Given the description of an element on the screen output the (x, y) to click on. 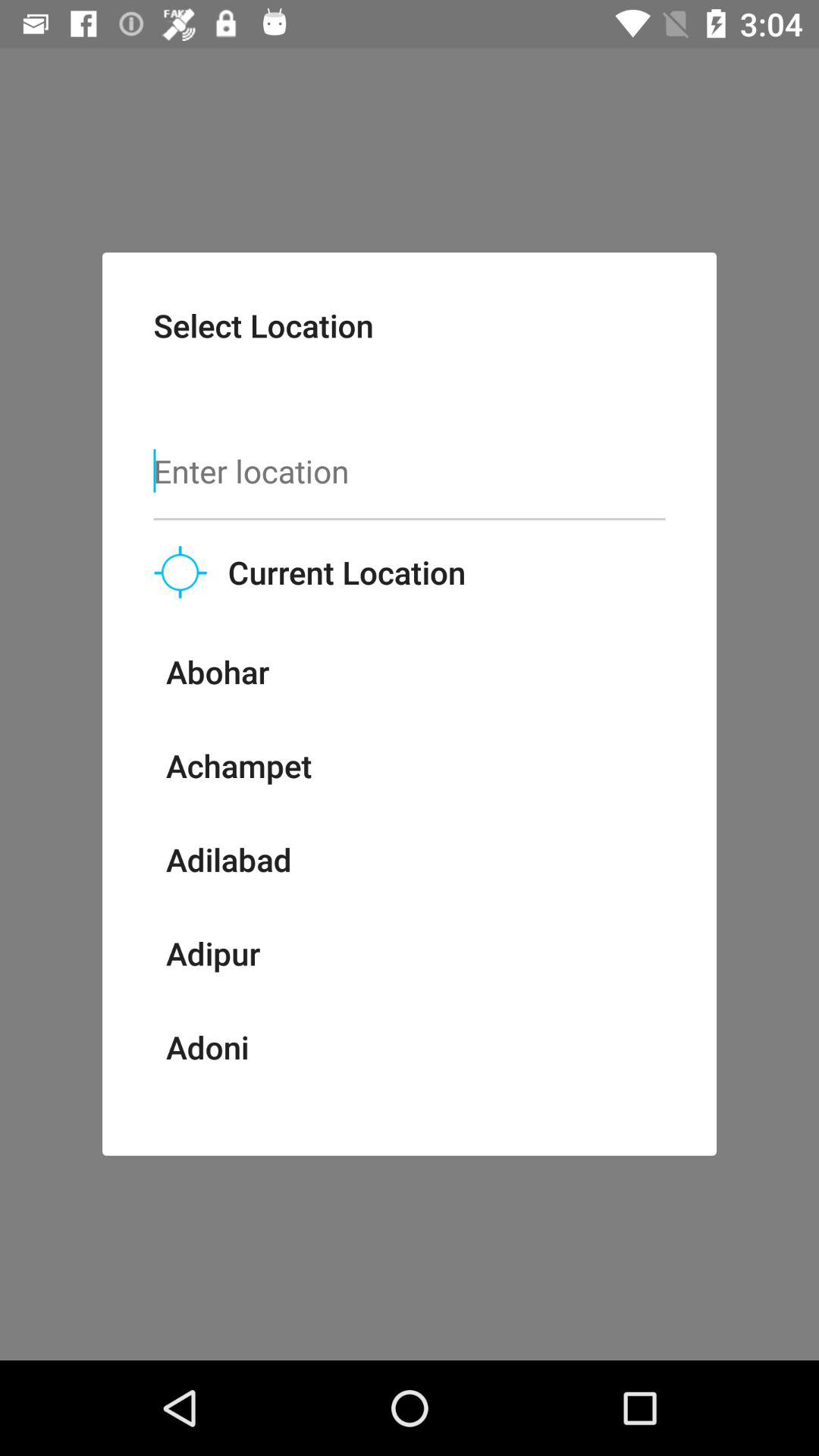
click the icon above adilabad item (239, 765)
